Given the description of an element on the screen output the (x, y) to click on. 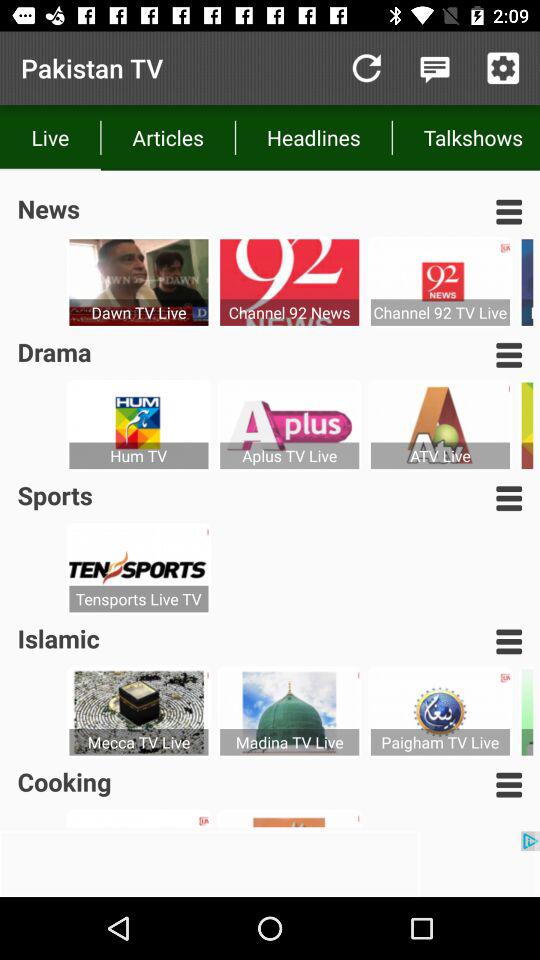
slick on reload symbol (366, 68)
